Given the description of an element on the screen output the (x, y) to click on. 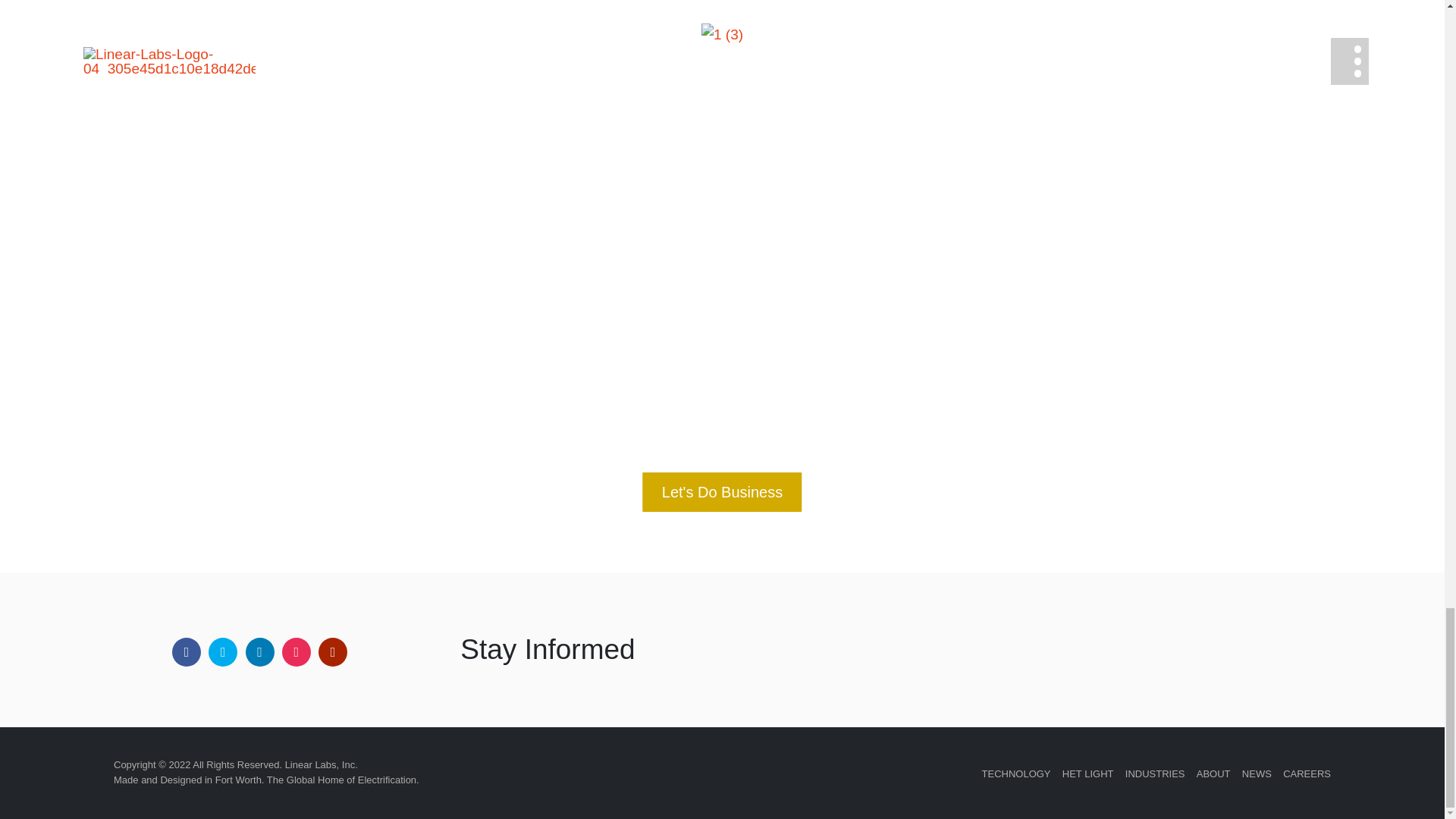
HET LIGHT (1087, 773)
CAREERS (1306, 773)
ABOUT (1213, 773)
NEWS (1256, 773)
Let's Do Business (722, 491)
INDUSTRIES (1155, 773)
TECHNOLOGY (1016, 773)
